Given the description of an element on the screen output the (x, y) to click on. 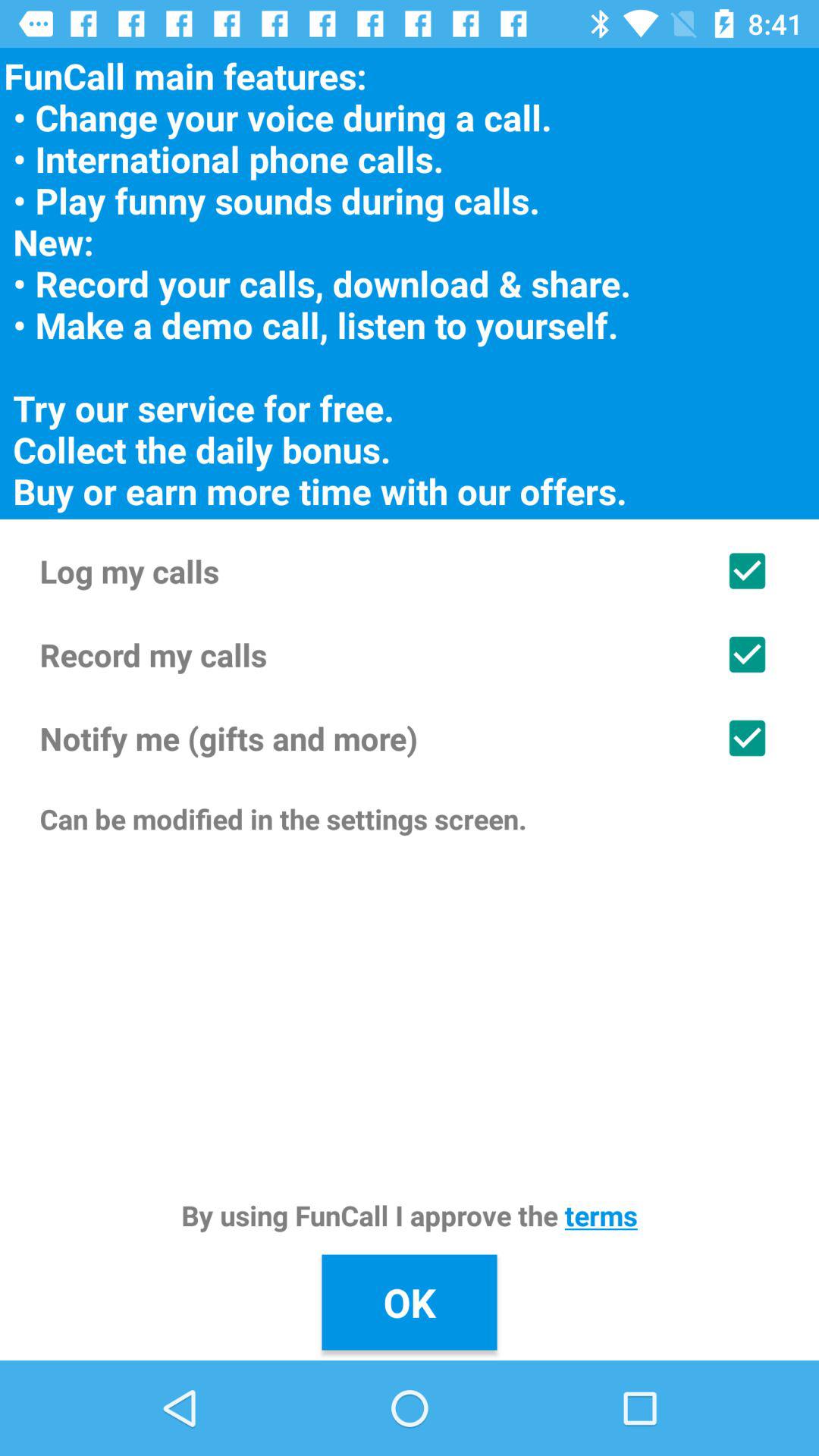
select icon below the can be modified app (409, 1215)
